Given the description of an element on the screen output the (x, y) to click on. 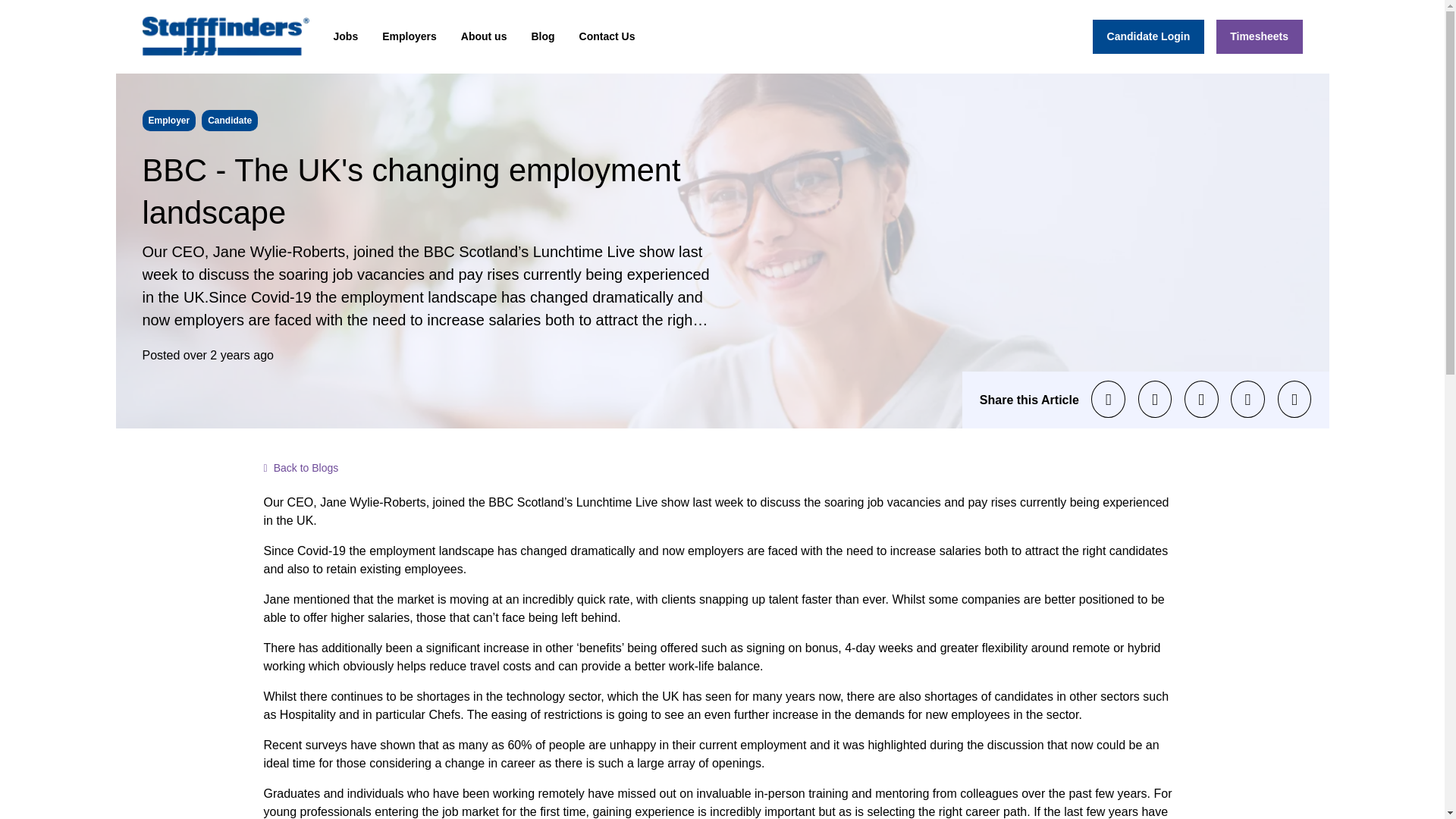
About us (483, 35)
Contact Us (607, 35)
Employers (408, 35)
Jobs (346, 35)
Blog (542, 35)
